Given the description of an element on the screen output the (x, y) to click on. 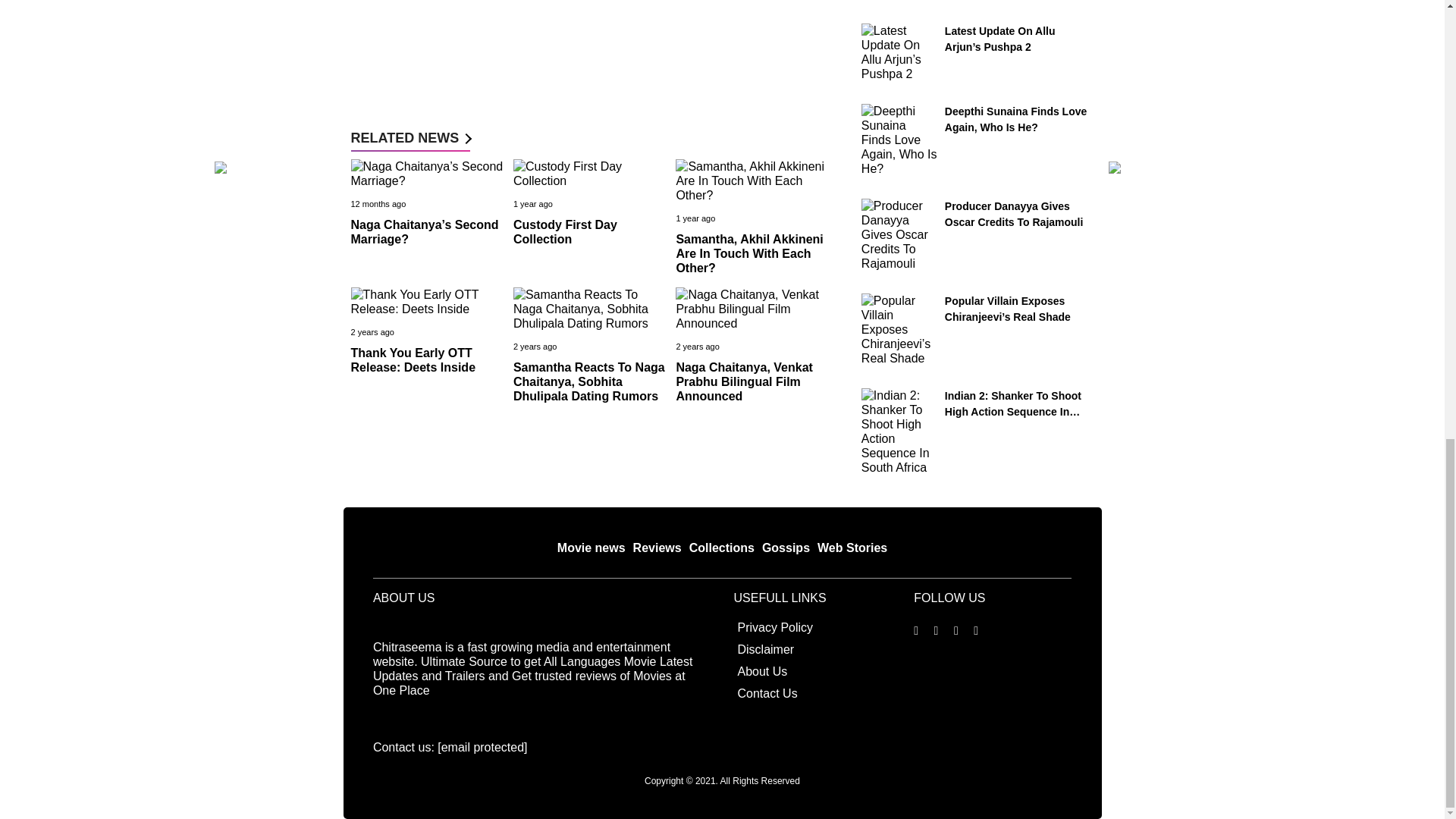
Custody First Day Collection (565, 231)
Custody First Day Collection (565, 231)
Naga Chaitanya, Venkat Prabhu Bilingual Film Announced (743, 381)
Thank You Early OTT Release: Deets Inside (413, 359)
Samantha, Akhil Akkineni Are In Touch With Each Other? (748, 253)
Samantha, Akhil Akkineni Are In Touch With Each Other? (748, 253)
Naga Chaitanya, Venkat Prabhu Bilingual Film Announced (743, 381)
Thank You Early OTT Release: Deets Inside (413, 359)
